Given the description of an element on the screen output the (x, y) to click on. 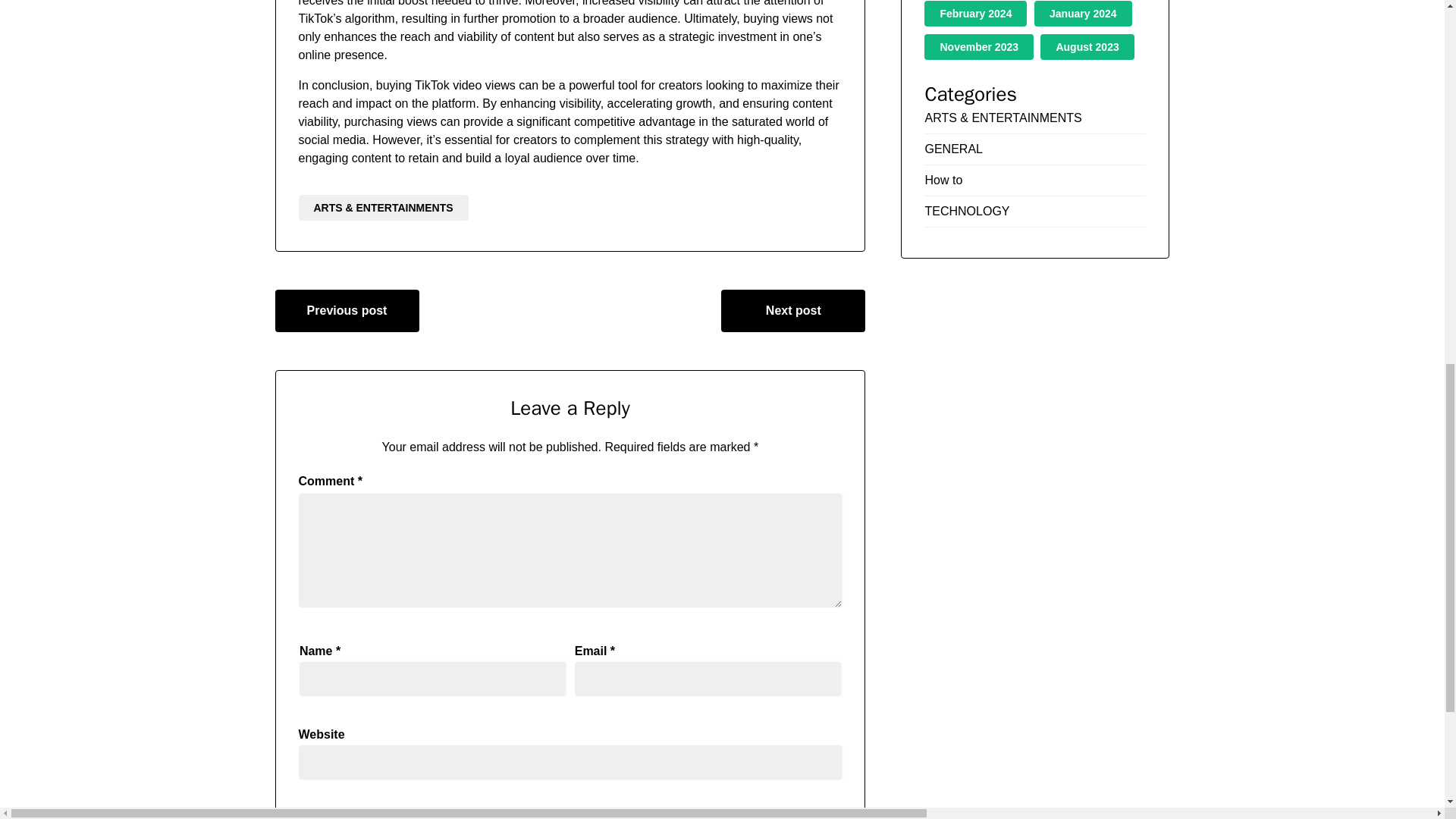
yes (303, 814)
Next post (792, 310)
Previous post (347, 310)
